Given the description of an element on the screen output the (x, y) to click on. 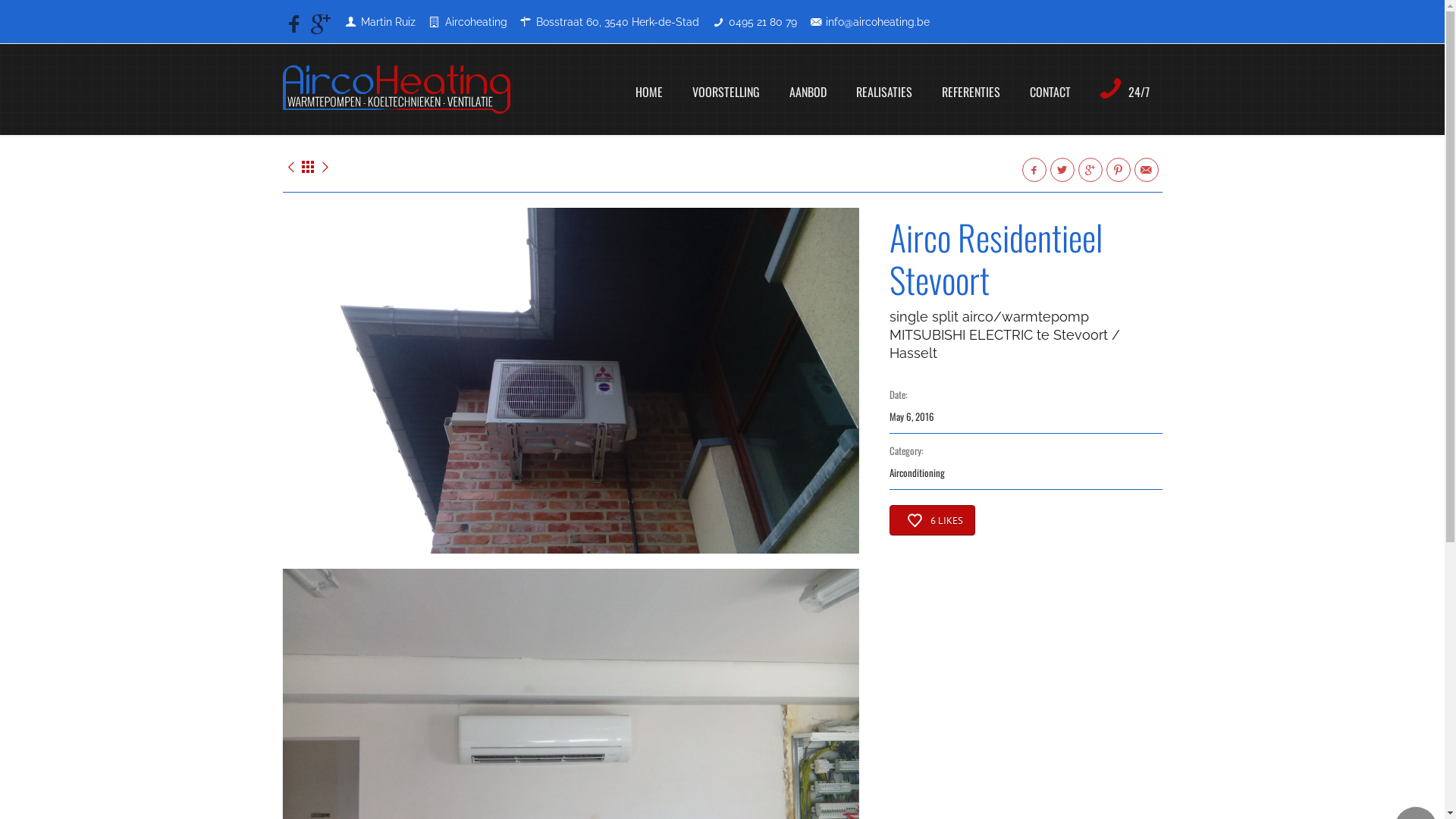
24/7 Element type: text (1124, 88)
6 LIKES Element type: text (931, 520)
REALISATIES Element type: text (884, 91)
REFERENTIES Element type: text (970, 91)
AANBOD Element type: text (807, 91)
facebook Element type: hover (293, 18)
airco / warmtepomp Lommel Element type: hover (324, 167)
Home Element type: hover (395, 89)
CONTACT Element type: text (1049, 91)
Airconditioning Element type: text (916, 472)
HOME Element type: text (647, 91)
Skip to main content Element type: text (66, 0)
VOORSTELLING Element type: text (725, 91)
gplus Element type: hover (315, 18)
SERVER ROOM Koeling Element type: hover (290, 167)
